Given the description of an element on the screen output the (x, y) to click on. 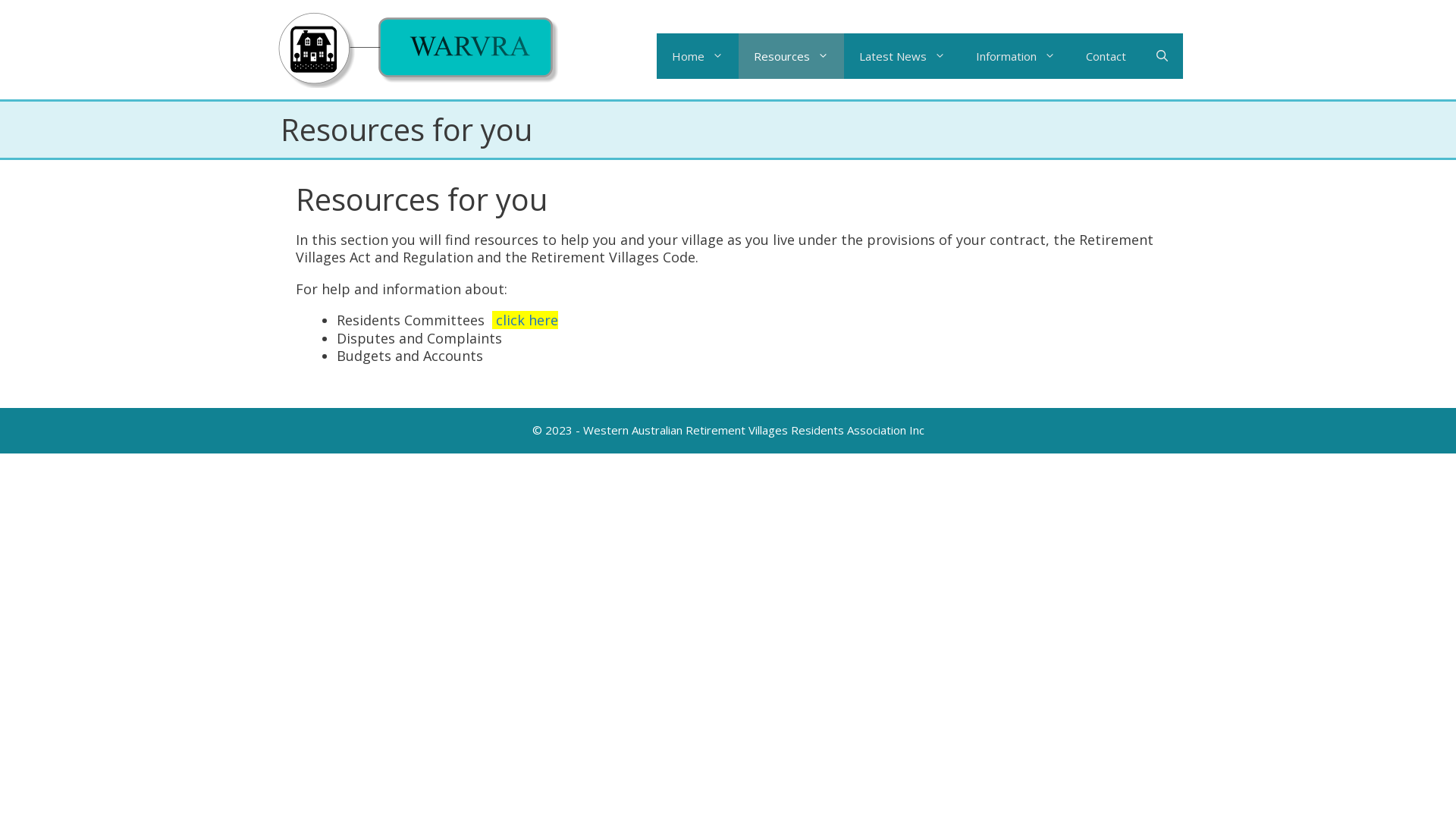
Latest News Element type: text (902, 55)
Resources Element type: text (791, 55)
click here Element type: text (526, 319)
Home Element type: text (697, 55)
Information Element type: text (1015, 55)
Contact Element type: text (1105, 55)
